Given the description of an element on the screen output the (x, y) to click on. 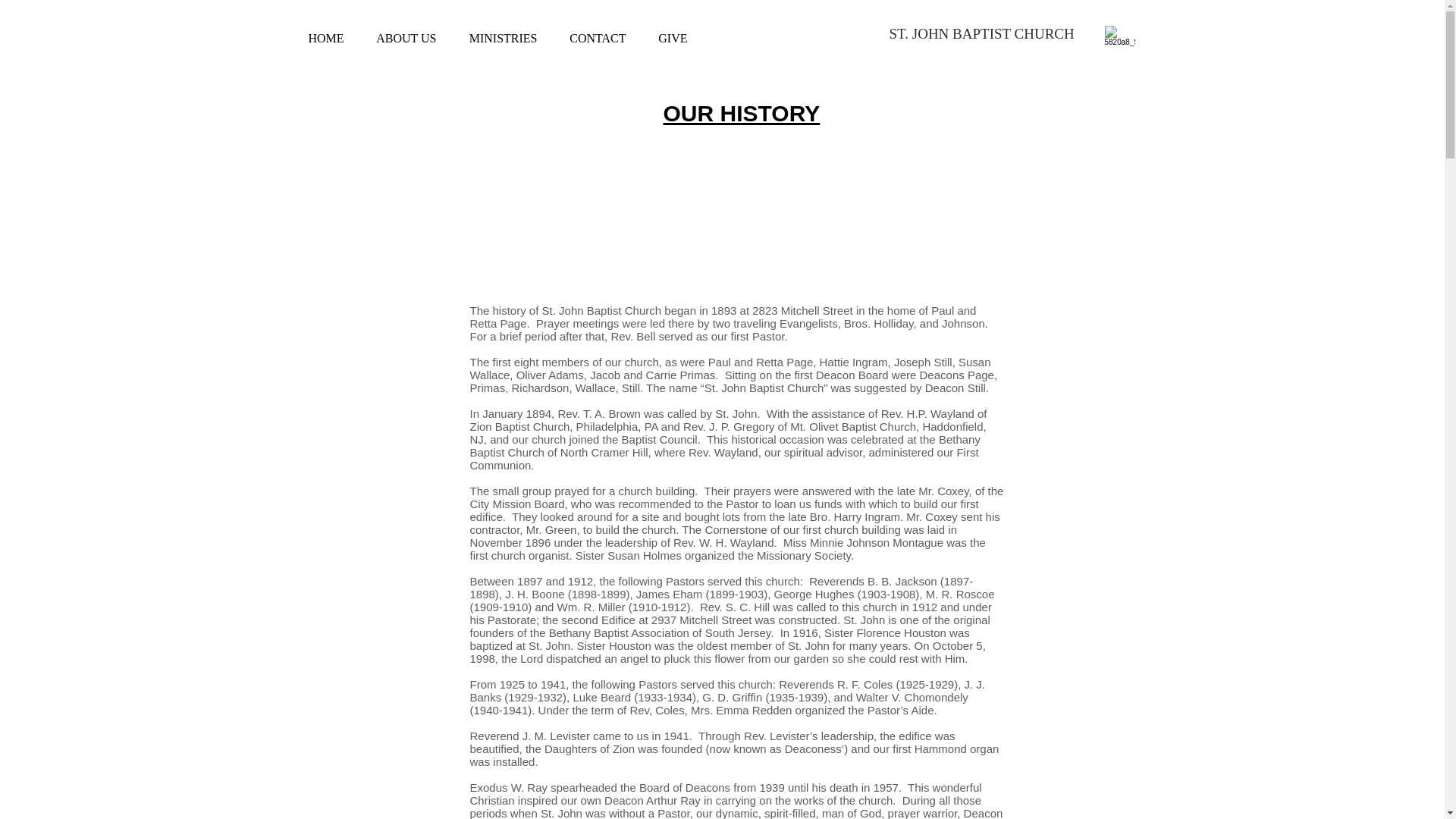
CONTACT (592, 38)
HOME (320, 38)
GIVE (667, 38)
